Given the description of an element on the screen output the (x, y) to click on. 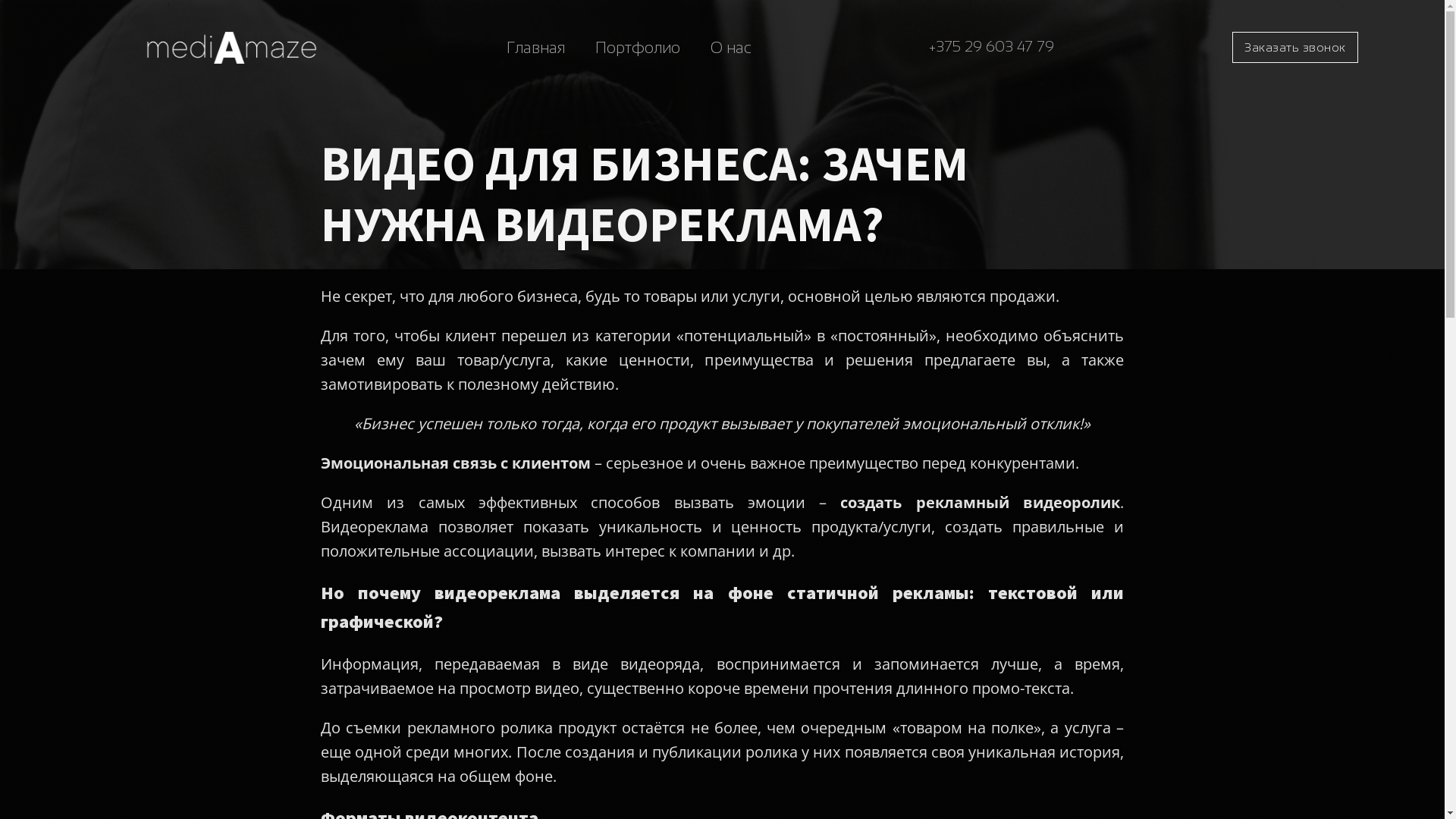
+375 29 603 47 79 Element type: text (991, 47)
